Given the description of an element on the screen output the (x, y) to click on. 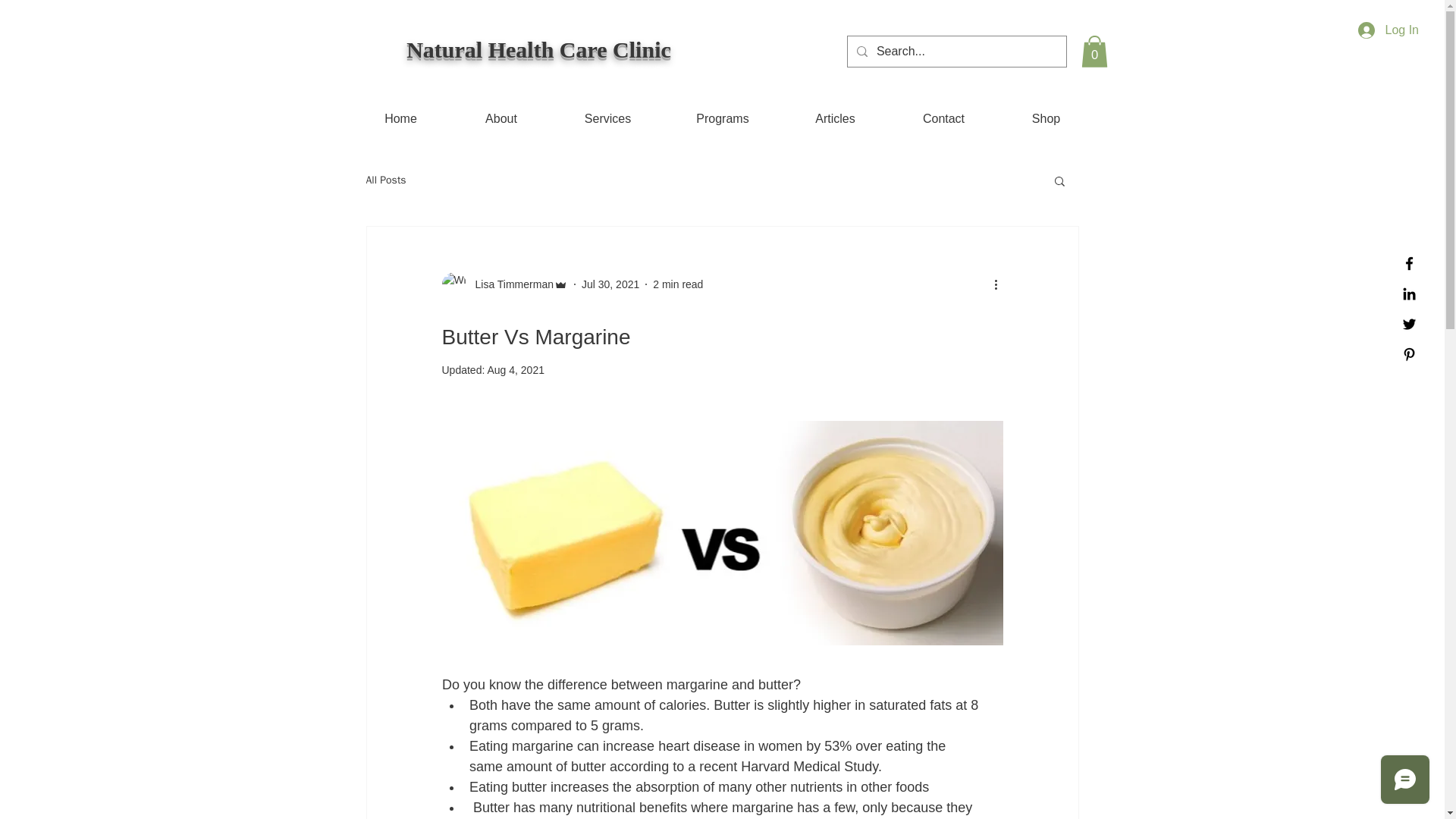
Aug 4, 2021 (515, 369)
Home (399, 118)
Shop (1045, 118)
Jul 30, 2021 (609, 283)
Log In (1388, 30)
Lisa Timmerman (509, 283)
Lisa Timmerman (504, 283)
All Posts (385, 180)
2 min read (677, 283)
About (500, 118)
Articles (834, 118)
Contact (942, 118)
